Given the description of an element on the screen output the (x, y) to click on. 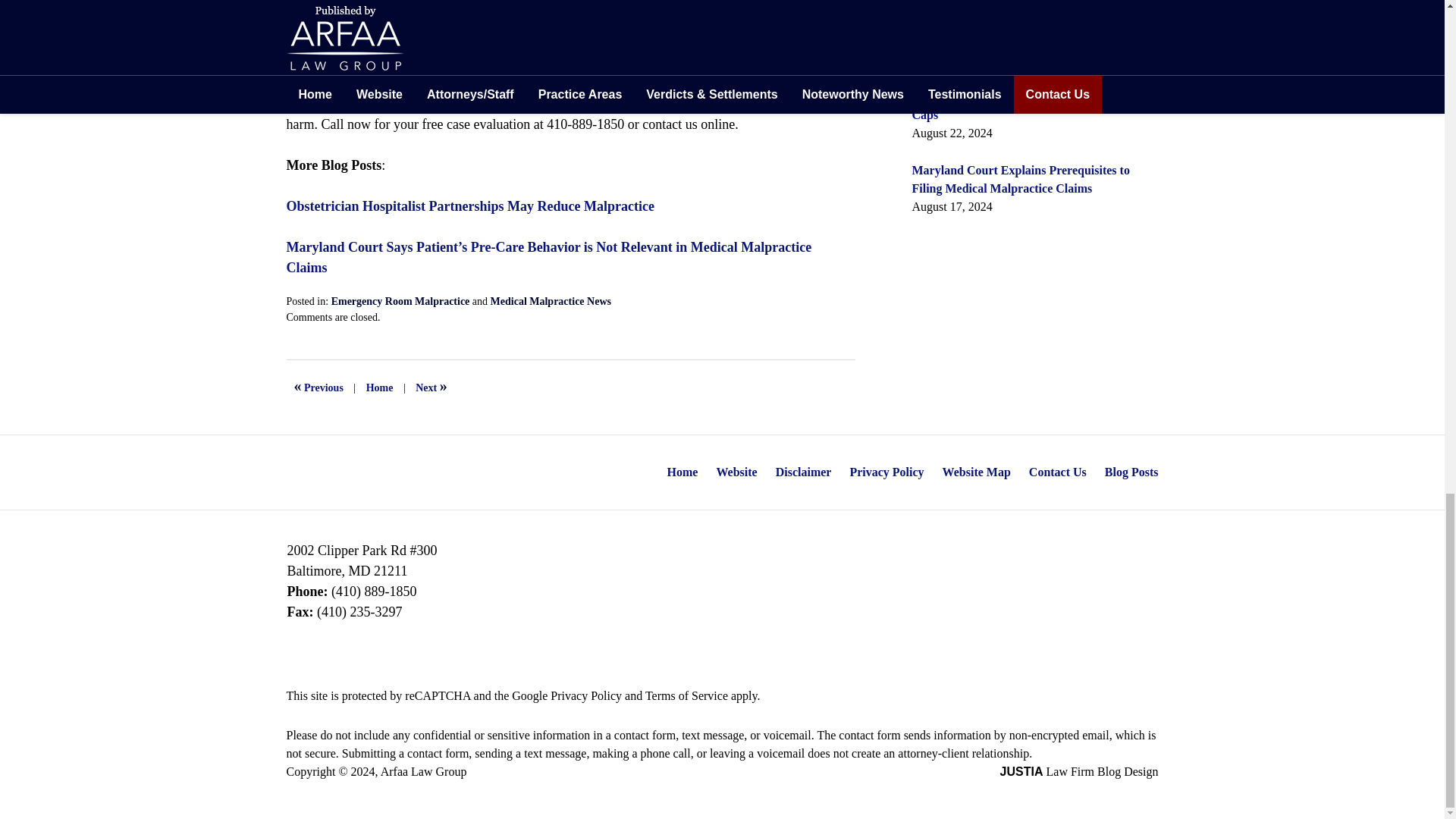
Obstetrician Hospitalist Partnerships May Reduce Malpractice (318, 387)
Home (379, 388)
emergency room (501, 62)
View all posts in Medical Malpractice News (550, 301)
Medical Malpractice News (550, 301)
Emergency Room Malpractice (400, 301)
Obstetrician Hospitalist Partnerships May Reduce Malpractice (469, 206)
View all posts in Emergency Room Malpractice (400, 301)
